Given the description of an element on the screen output the (x, y) to click on. 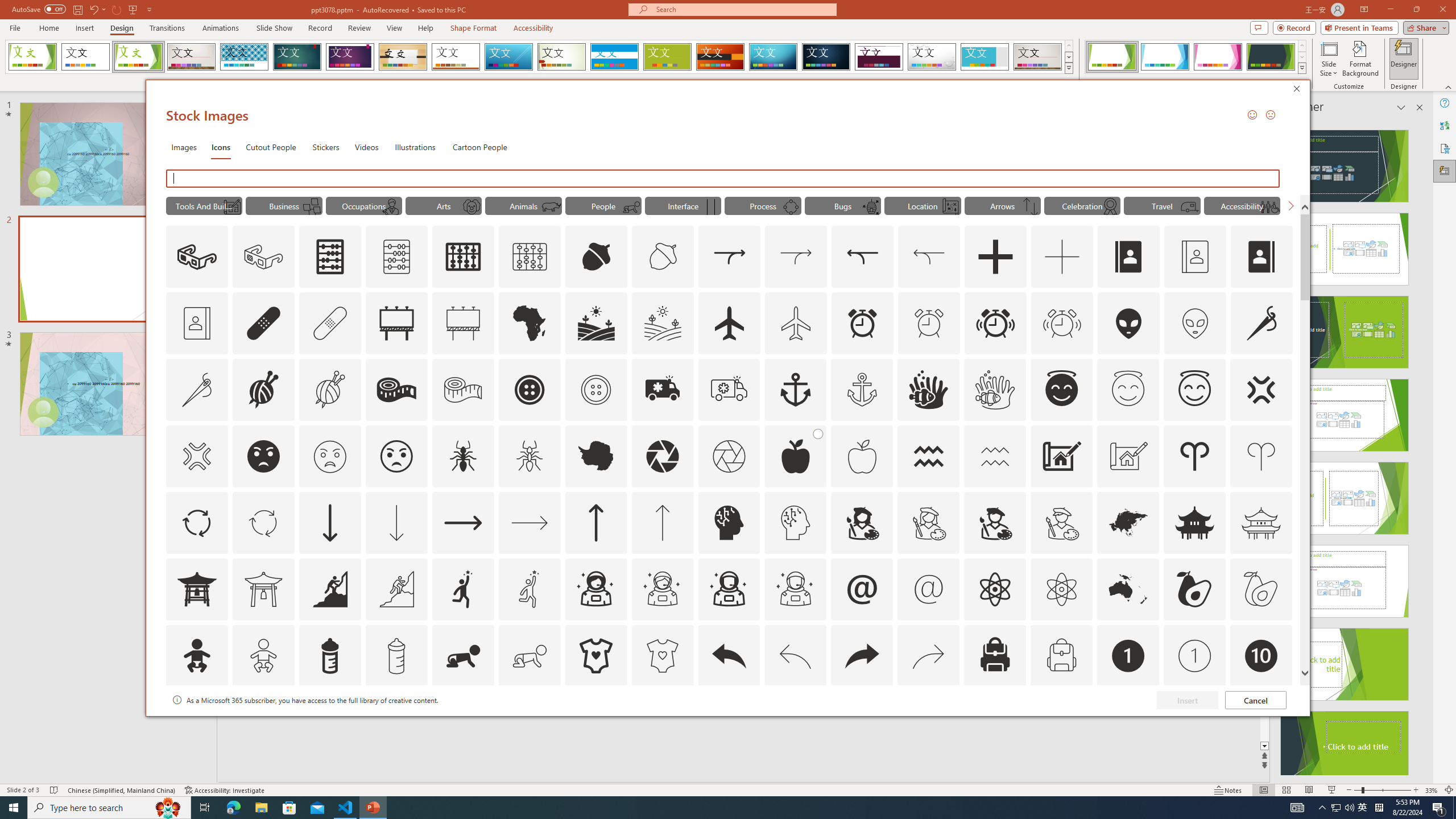
Facet Variant 4 (1270, 56)
AutomationID: Icons_BabyOnesie (595, 655)
AutomationID: Icons_AngelFace (1061, 389)
AutomationID: Icons_AdhesiveBandage_M (330, 323)
AutomationID: Icons_Add_M (1062, 256)
AutomationID: Icons_AlterationsTailoring2_M (462, 389)
